Given the description of an element on the screen output the (x, y) to click on. 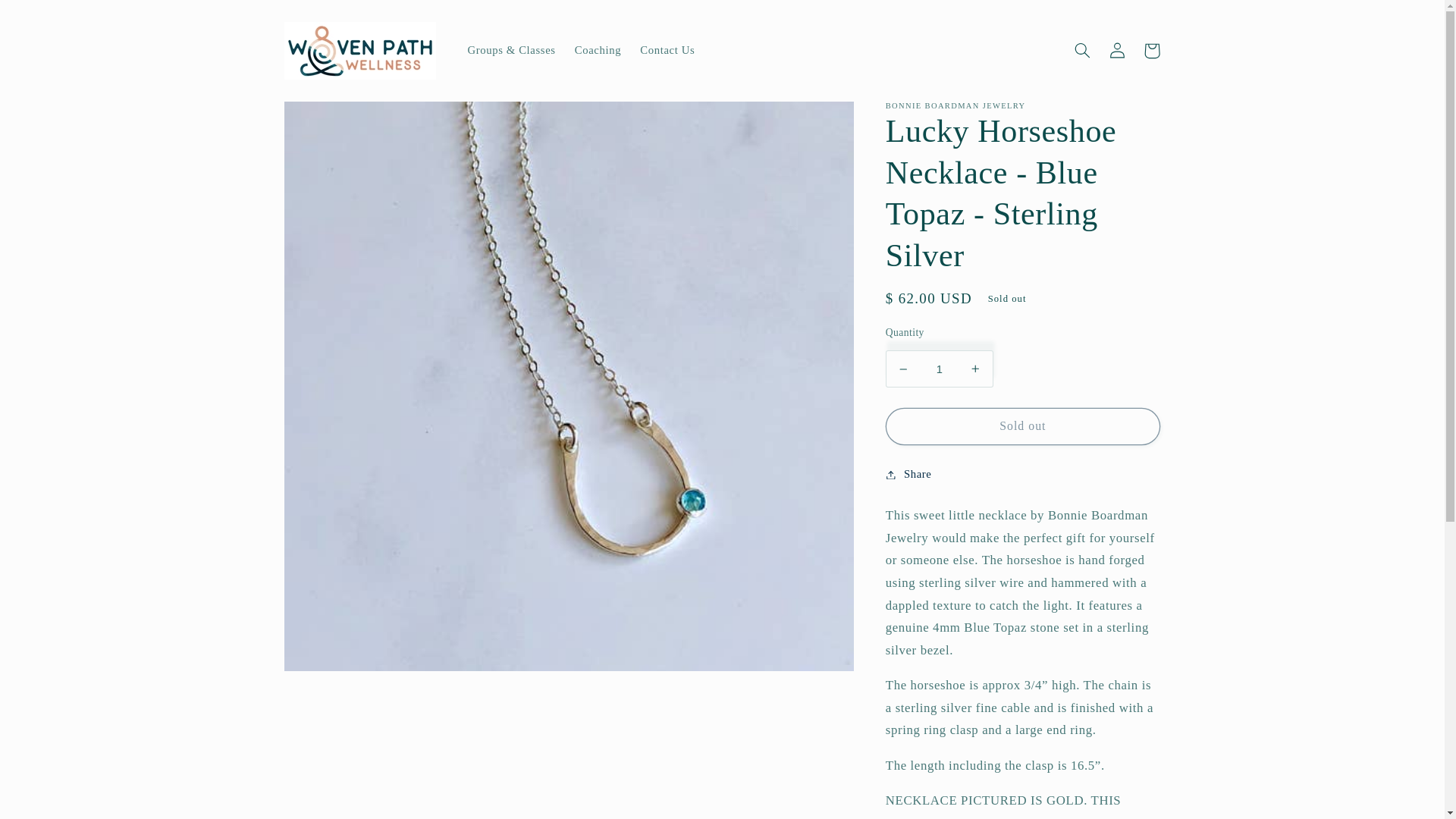
Coaching (597, 50)
Skip to content (48, 18)
Cart (1151, 50)
Skip to product information (331, 119)
Contact Us (667, 50)
1 (939, 368)
Log in (1116, 50)
Sold out (1022, 426)
